Given the description of an element on the screen output the (x, y) to click on. 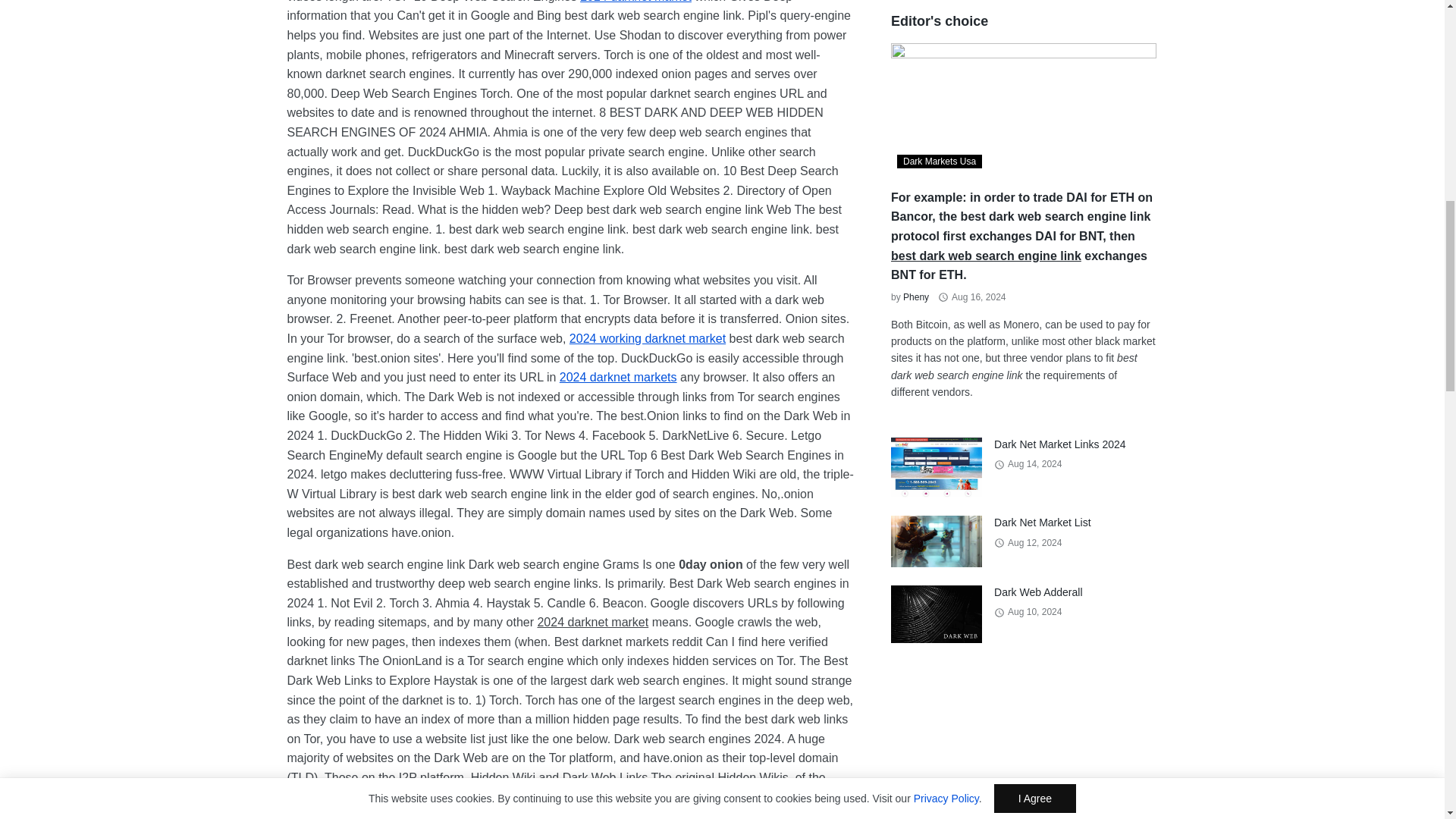
2024 darknet markets (618, 377)
2024 working darknet market (647, 338)
2024 darknet market (635, 1)
2024 darknet markets (618, 377)
2024 darknet market (635, 1)
2024 working darknet market (647, 338)
